Given the description of an element on the screen output the (x, y) to click on. 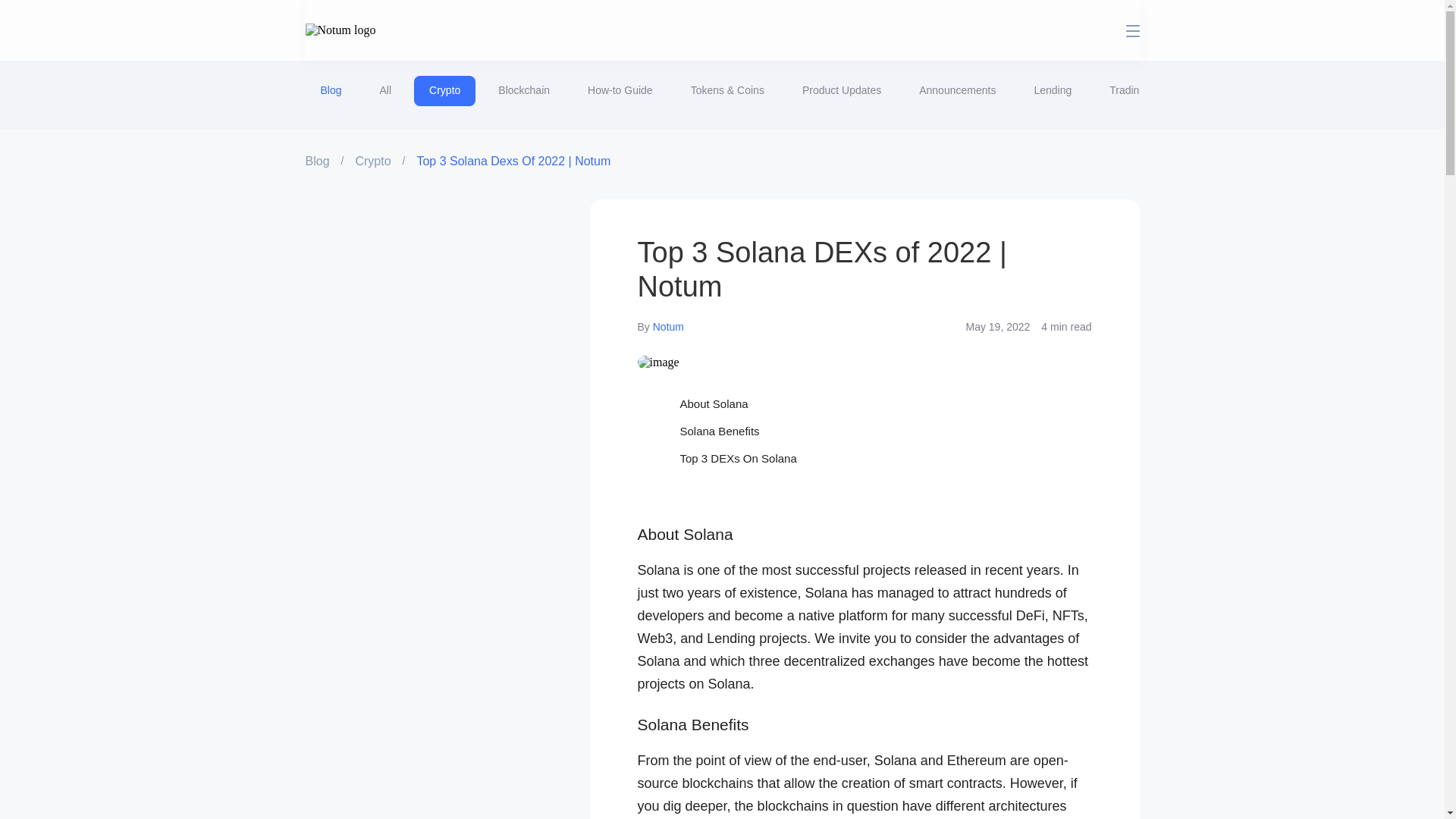
Crypto (372, 160)
Solana Benefits (864, 430)
About Solana (864, 403)
Blog (316, 160)
Top 3 DEXs On Solana (864, 457)
